Given the description of an element on the screen output the (x, y) to click on. 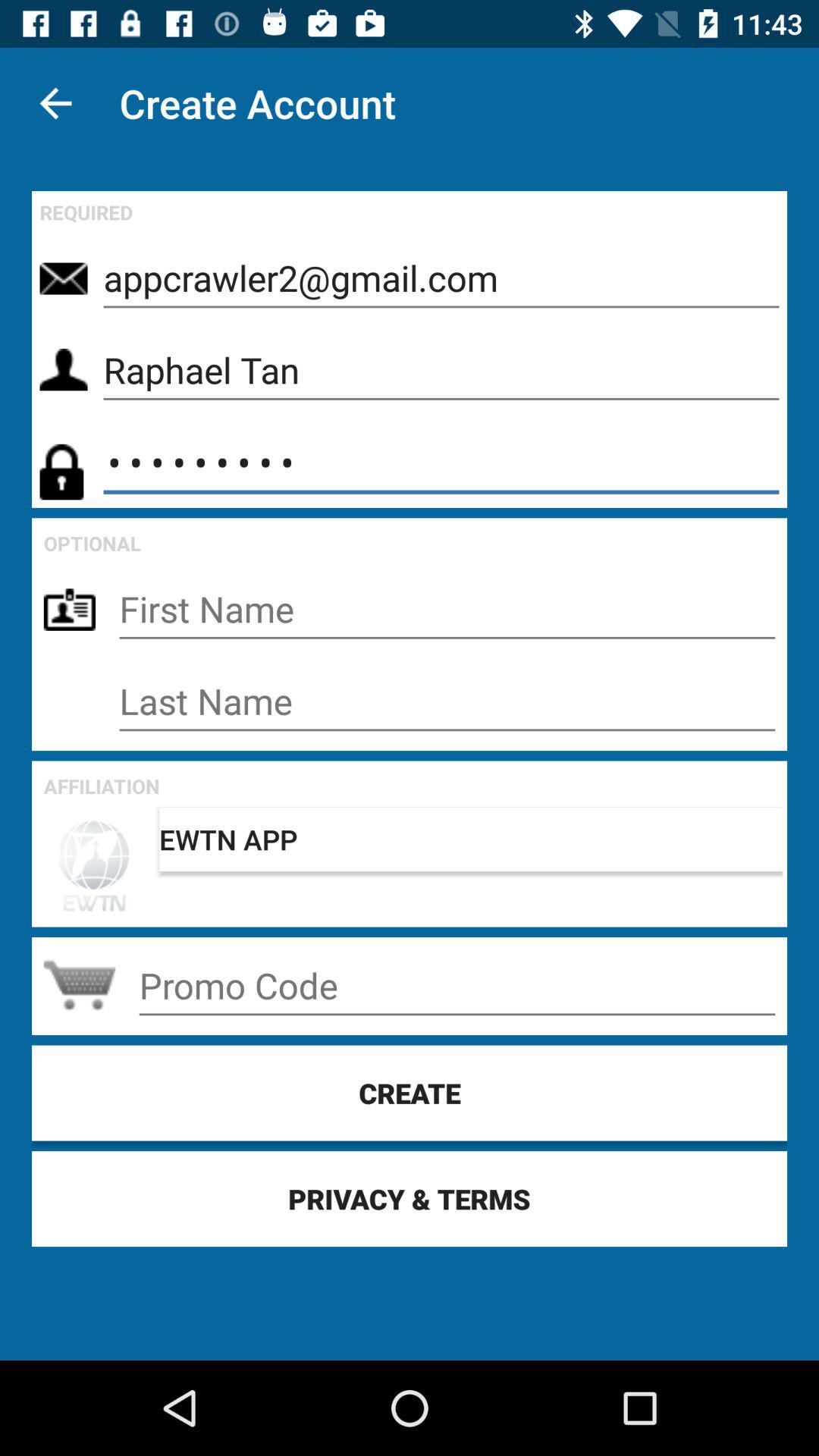
add first name (447, 609)
